Given the description of an element on the screen output the (x, y) to click on. 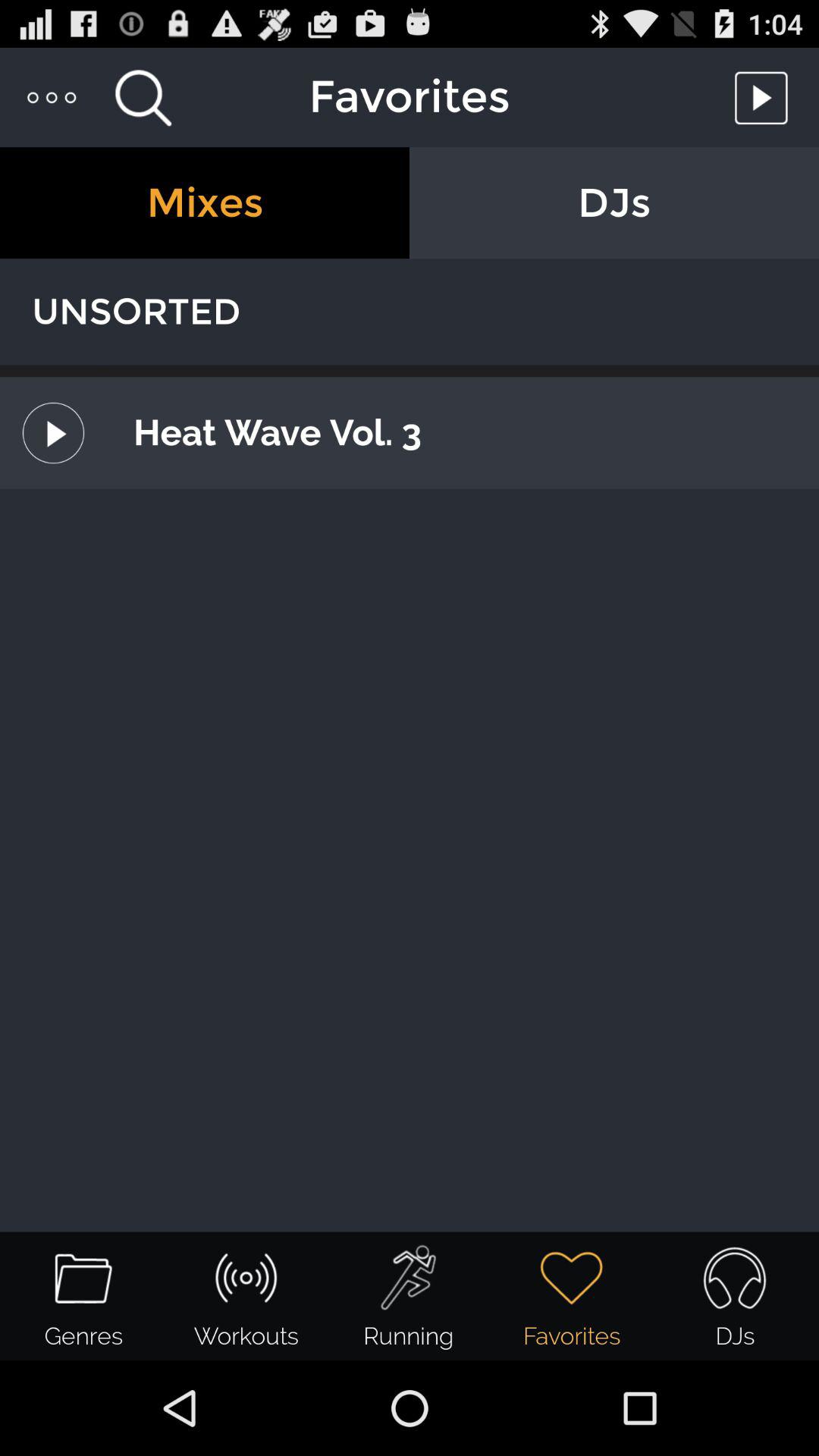
swipe until the mixes (204, 202)
